Given the description of an element on the screen output the (x, y) to click on. 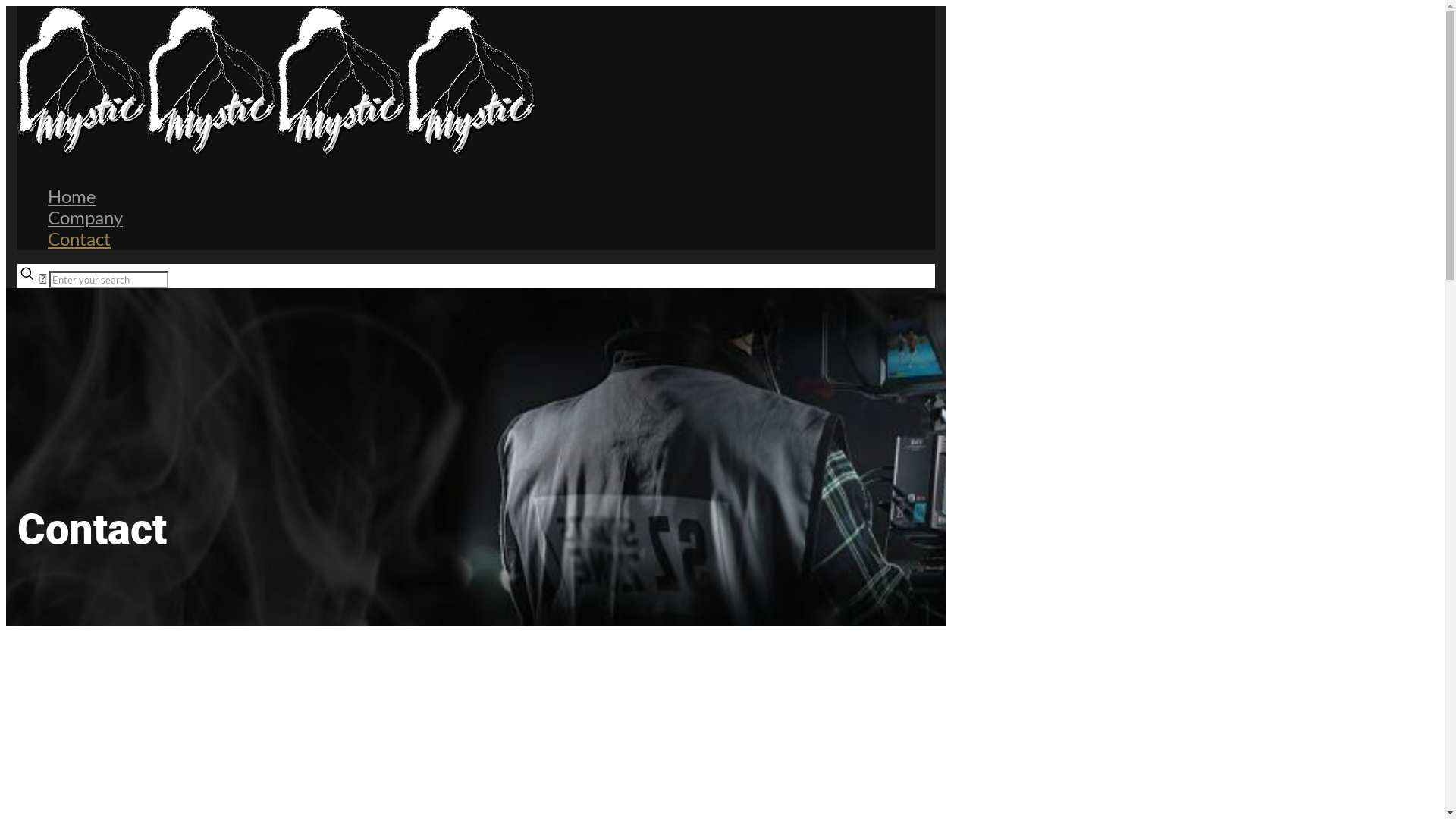
Contact Element type: text (78, 238)
Home Element type: text (71, 195)
Mystic Entertainmentz Element type: hover (276, 152)
Company Element type: text (84, 216)
